Given the description of an element on the screen output the (x, y) to click on. 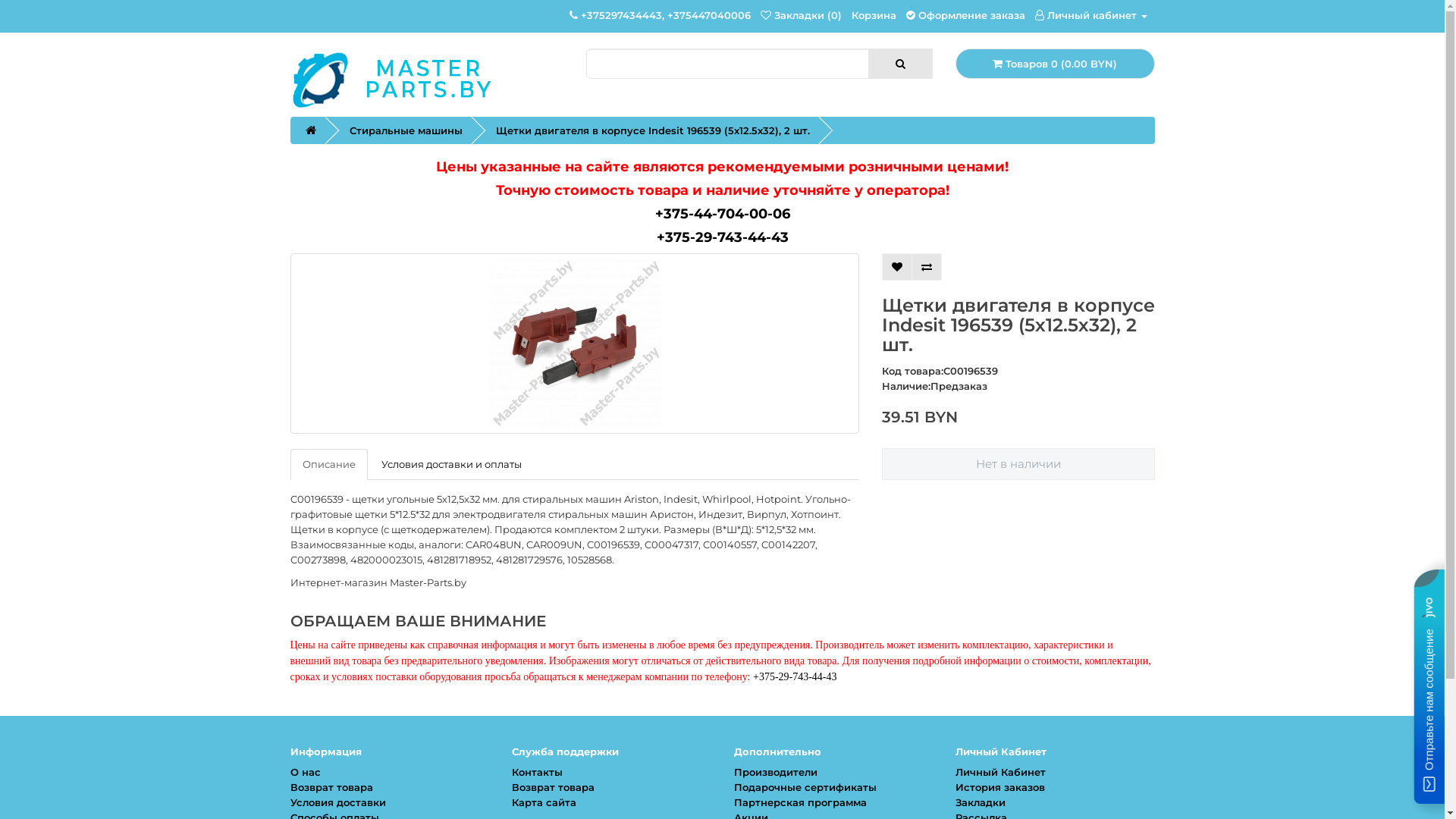
+375-29-743-44-43 Element type: text (722, 237)
+375-29-743-44-43 Element type: text (795, 676)
Master-Parts.by Element type: hover (410, 78)
+375-44-704-00-06 Element type: text (722, 213)
